Given the description of an element on the screen output the (x, y) to click on. 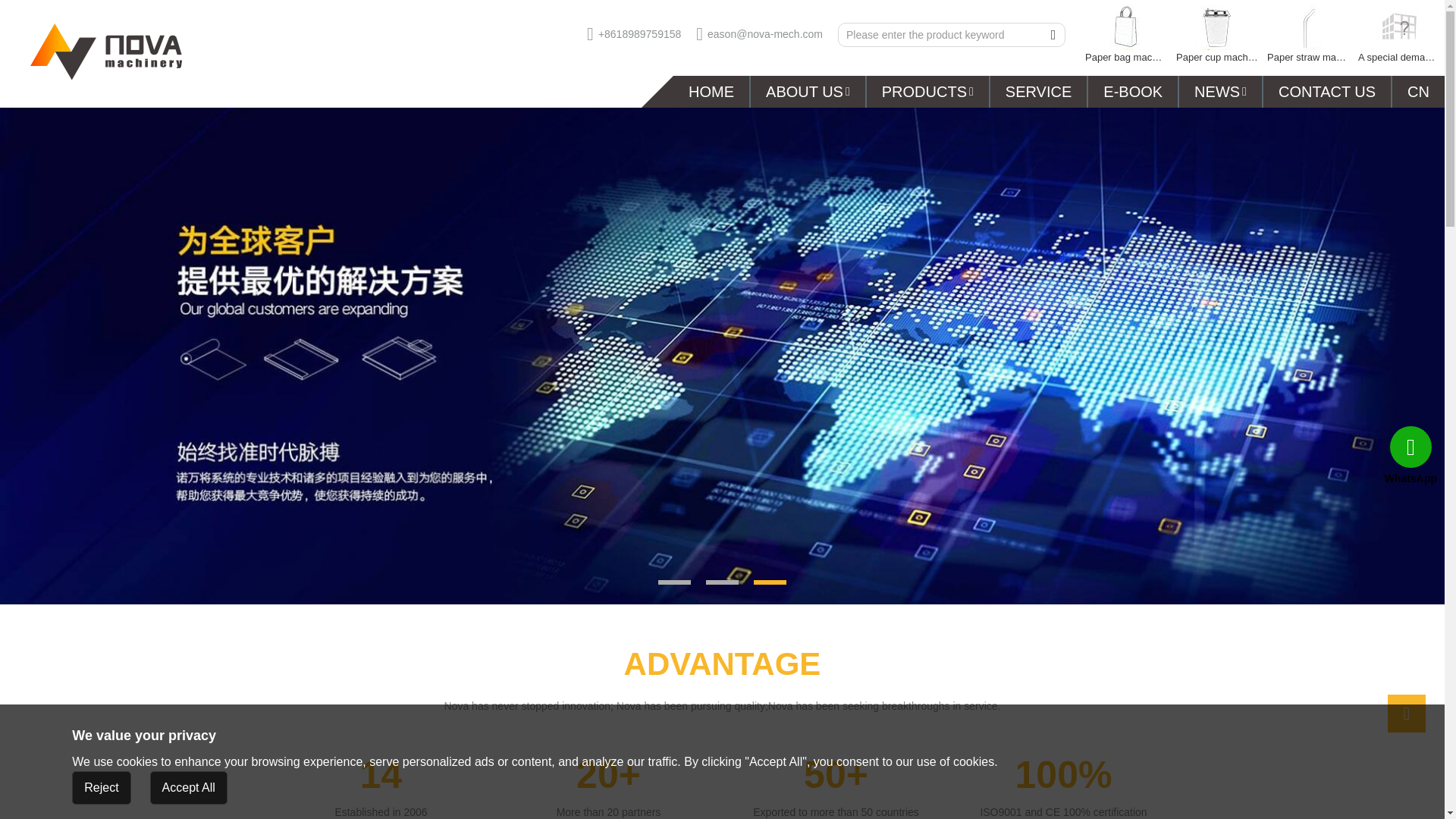
Paper cup machine (1217, 34)
Paper straw machine (1308, 34)
Service (1038, 91)
Paper straw machine (1308, 34)
Contact us (1326, 91)
Products (927, 91)
News (1220, 91)
HOME (710, 91)
About us (807, 91)
Paper bag machine (1126, 34)
Paper cup machine (1217, 34)
SERVICE (1038, 91)
CONTACT US (1326, 91)
Home (710, 91)
Paper bag machine (1126, 34)
